Given the description of an element on the screen output the (x, y) to click on. 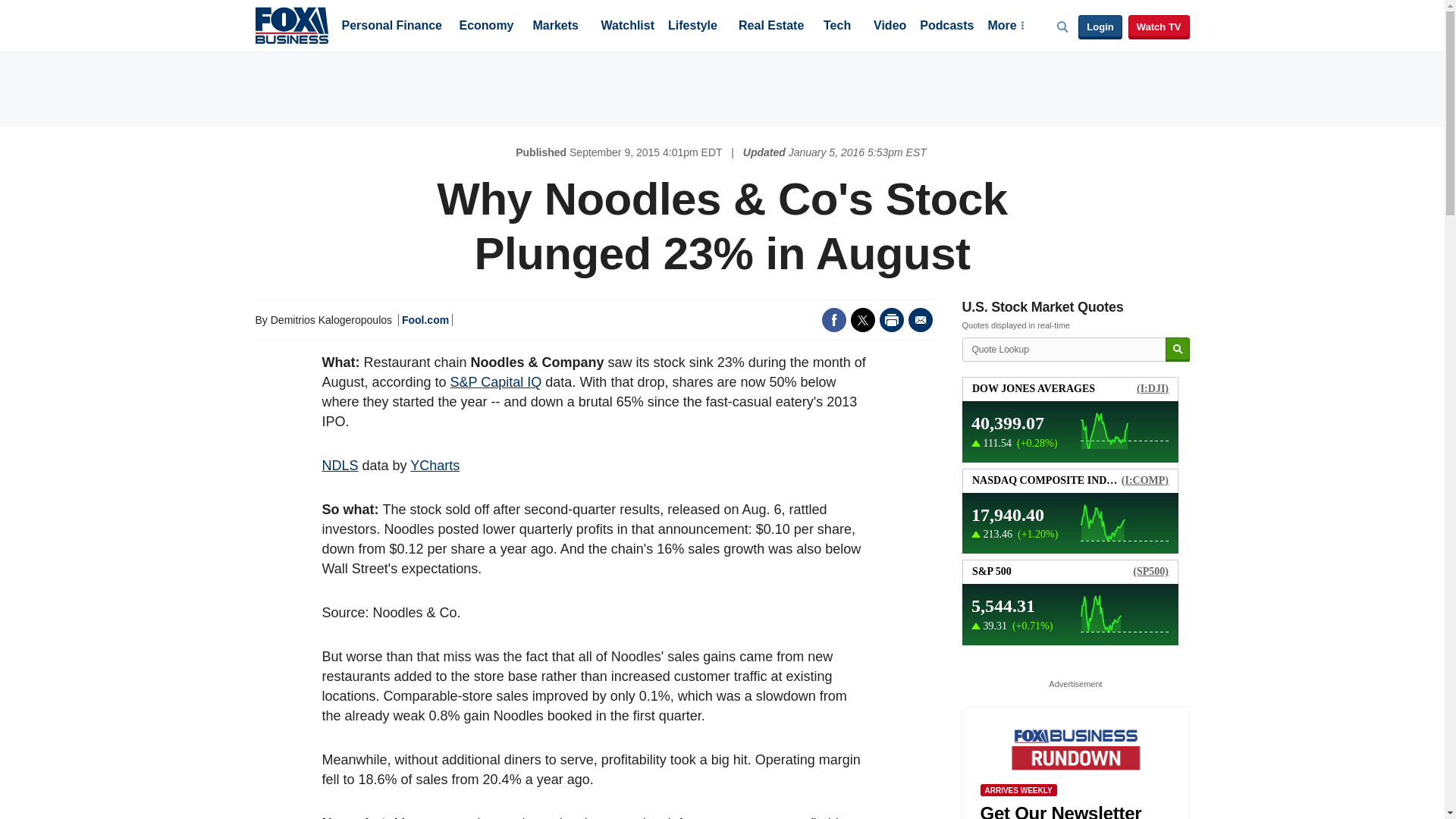
Markets (555, 27)
More (1005, 27)
Video (889, 27)
Tech (837, 27)
Watchlist (626, 27)
Lifestyle (692, 27)
Podcasts (947, 27)
Search (1176, 349)
Economy (486, 27)
Search (1176, 349)
Watch TV (1158, 27)
Login (1099, 27)
Fox Business (290, 24)
Real Estate (770, 27)
Personal Finance (391, 27)
